Given the description of an element on the screen output the (x, y) to click on. 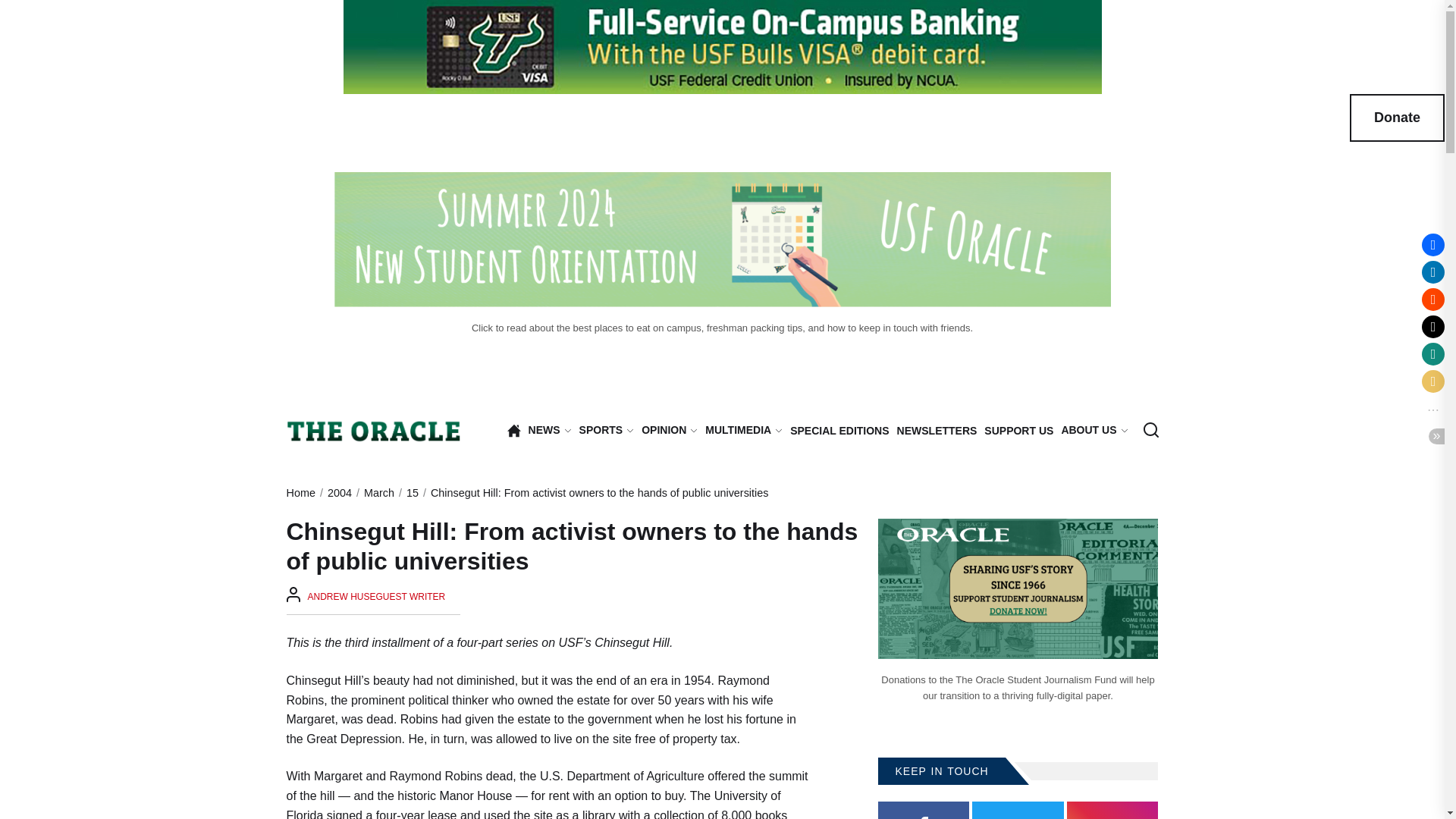
ABOUT US (1093, 430)
SPORTS (606, 430)
OPINION (669, 430)
Home (513, 430)
SPECIAL EDITIONS (839, 431)
NEWS (550, 430)
SUPPORT US (1018, 431)
Leaderboard spring 2024 (721, 47)
NEWSLETTERS (936, 431)
MULTIMEDIA (743, 430)
